Given the description of an element on the screen output the (x, y) to click on. 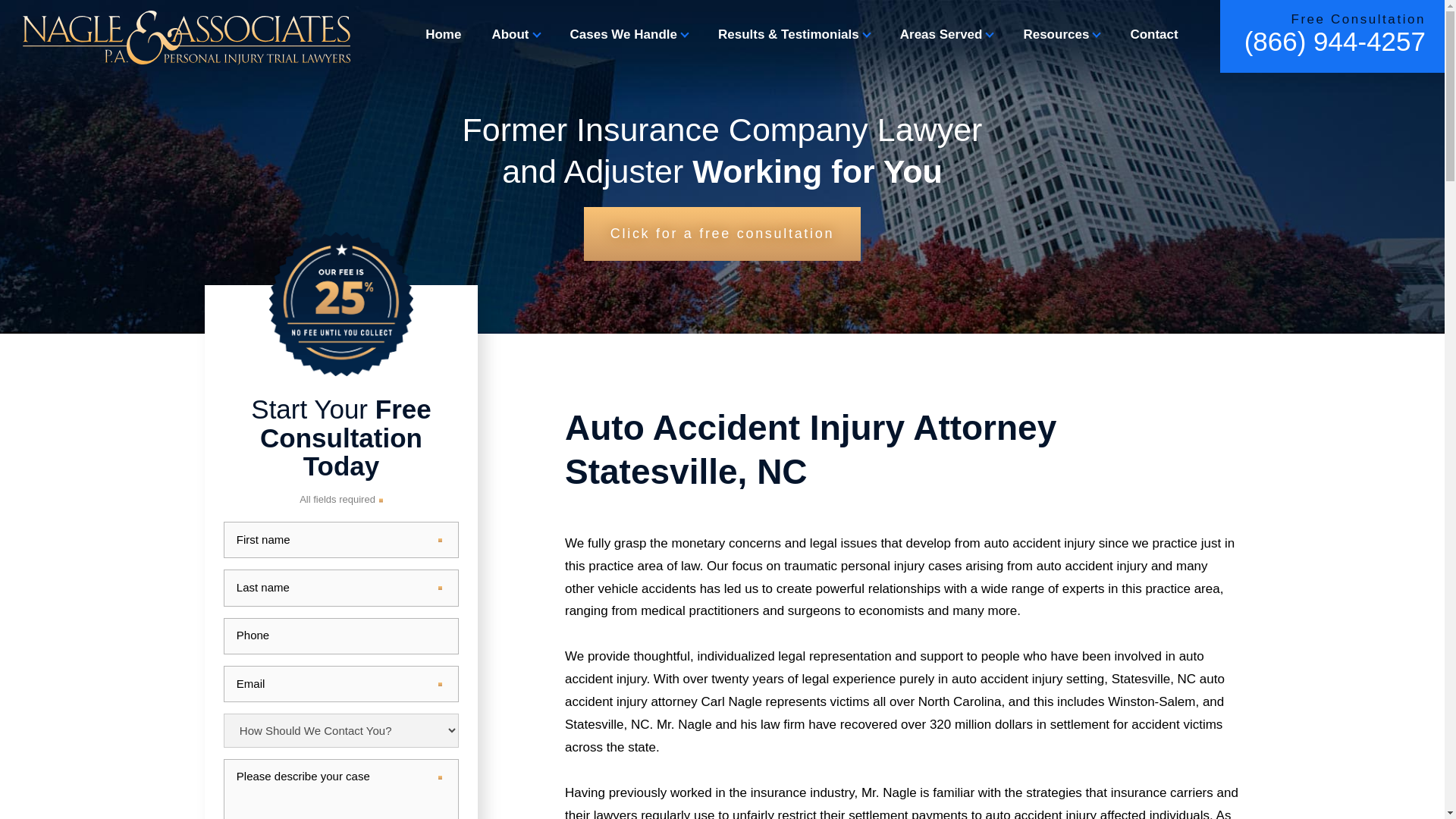
Areas Served (945, 34)
About (515, 34)
Cases We Handle (628, 34)
Resources (1061, 34)
Home (443, 34)
